Given the description of an element on the screen output the (x, y) to click on. 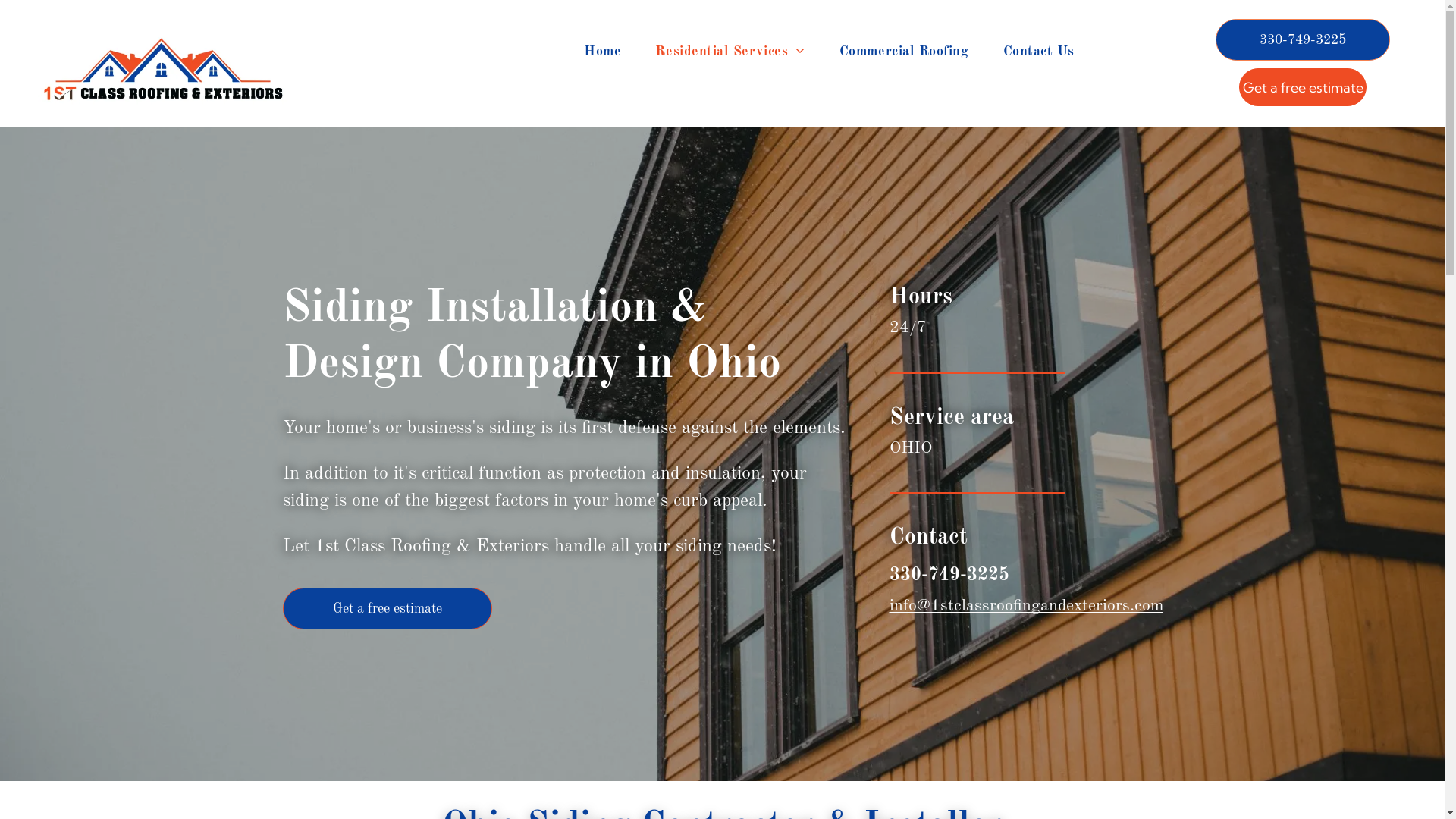
330-749-3225 Element type: text (948, 575)
Residential Services Element type: text (729, 51)
Commercial Roofing Element type: text (904, 51)
Get a free estimate Element type: text (386, 608)
Contact Us Element type: text (1038, 51)
Home Element type: text (602, 51)
Get a free estimate Element type: text (1302, 87)
330-749-3225 Element type: text (1302, 39)
info@1stclassroofingandexteriors.com Element type: text (1025, 605)
